Given the description of an element on the screen output the (x, y) to click on. 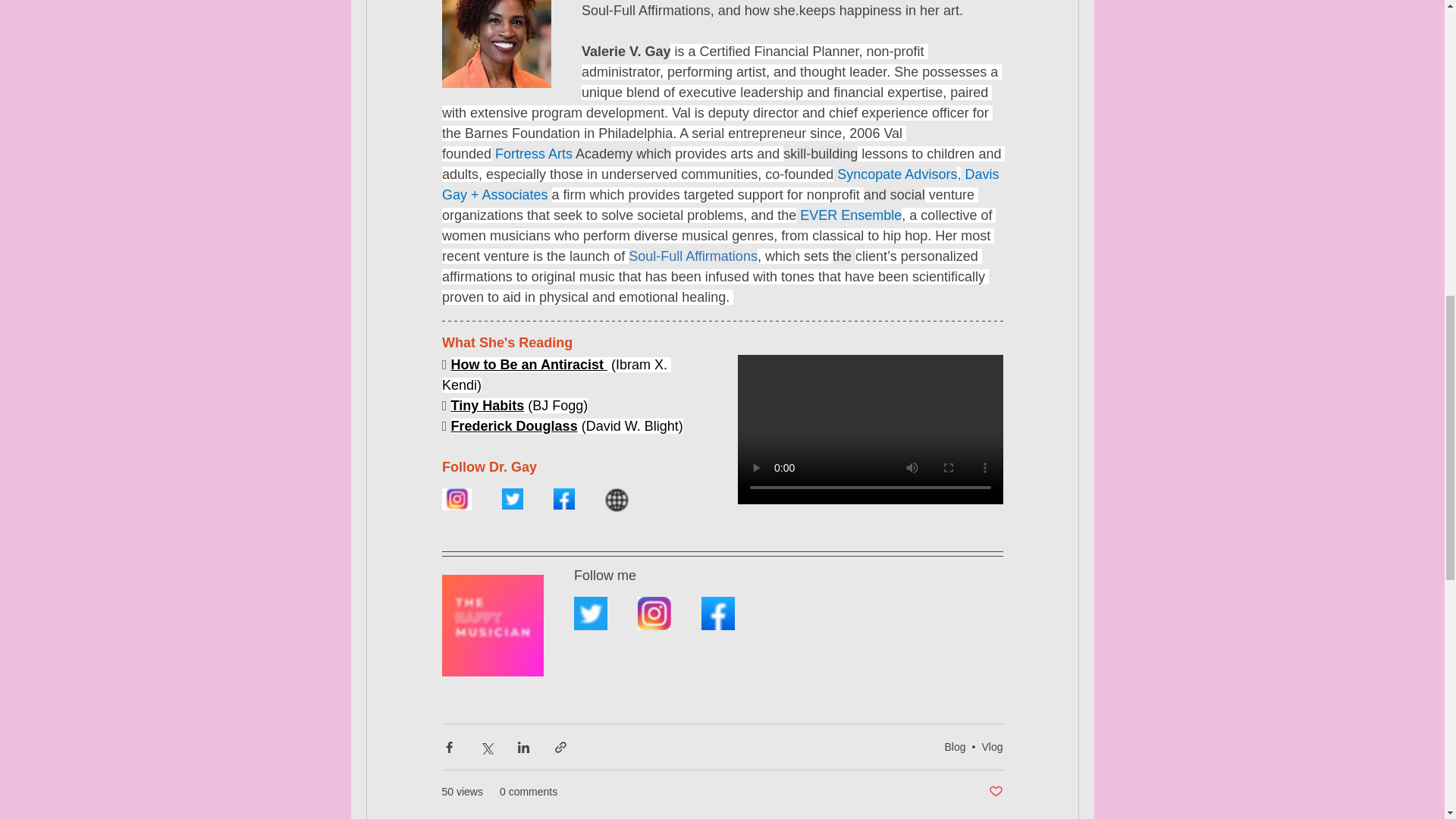
How to Be an Antiracist  (528, 364)
Soul-Full Affirmations (692, 255)
 EVER Ensemble (848, 215)
 Fortress Arts  (533, 153)
 Syncopate Advisors (894, 174)
Tiny Habits (486, 405)
Frederick Douglass (512, 426)
